Given the description of an element on the screen output the (x, y) to click on. 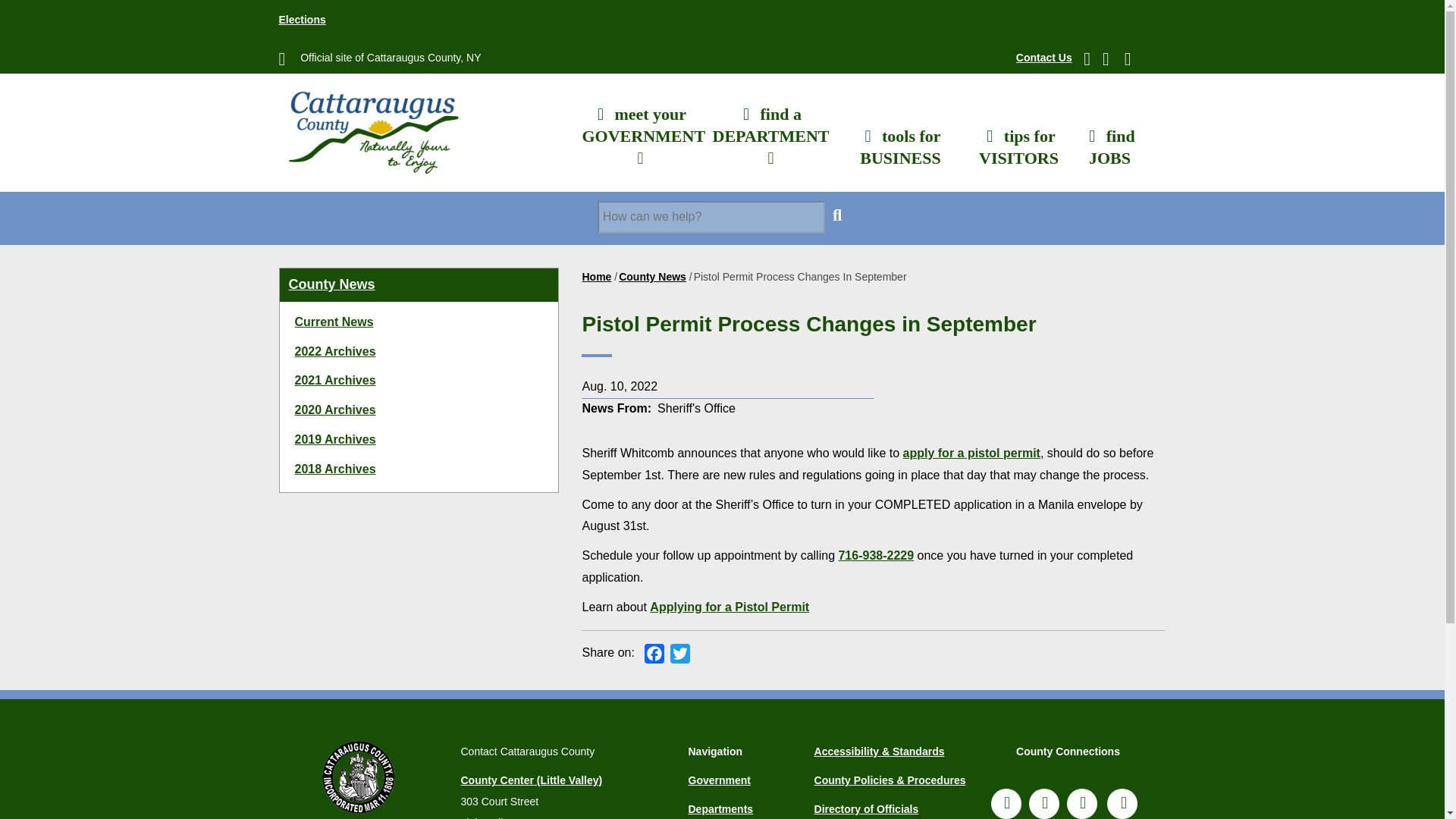
meet your GOVERNMENT (639, 132)
Elections (302, 19)
Contact Us (1043, 57)
Cattaraugus County's YouTube Channel (1121, 803)
find a DEPARTMENT (769, 132)
Facebook Link (1006, 803)
Enter the terms you wish to search for. (710, 216)
Flickr Link (1082, 803)
Twitter Link (1044, 803)
Information for Elections (302, 19)
Home (372, 127)
